Given the description of an element on the screen output the (x, y) to click on. 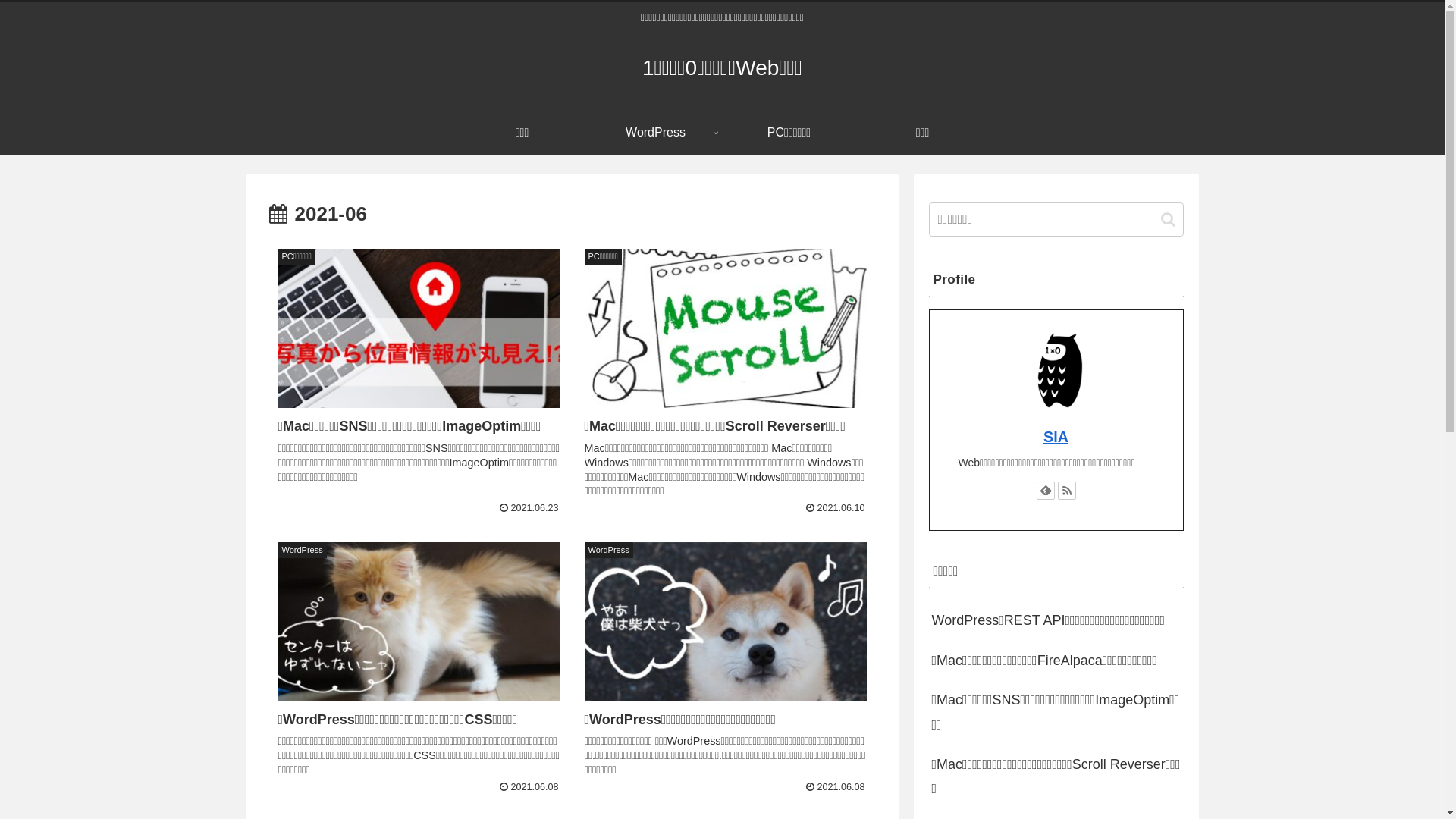
SIA Element type: text (1055, 436)
WordPress Element type: text (654, 132)
